Given the description of an element on the screen output the (x, y) to click on. 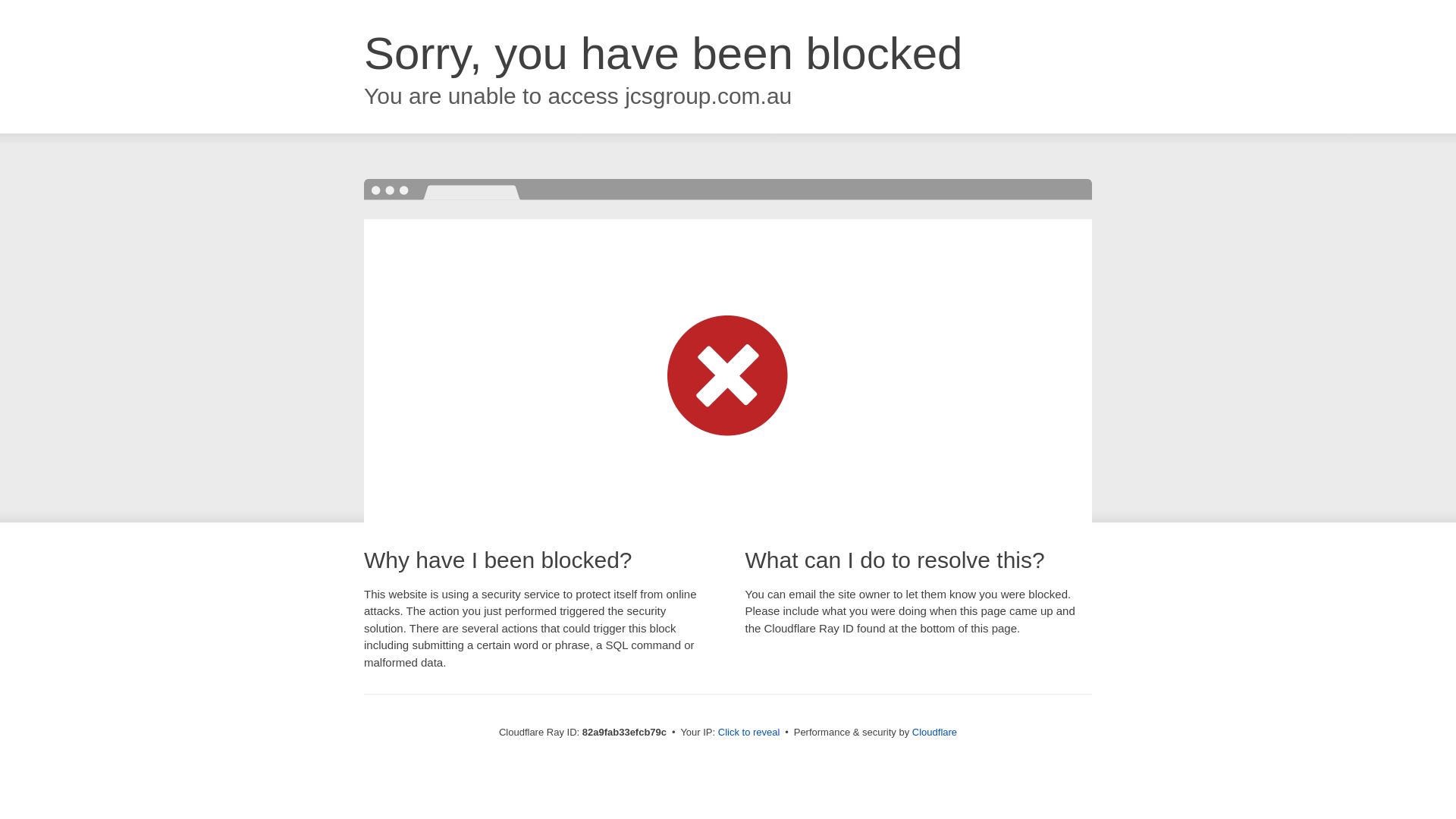
Click to reveal Element type: text (749, 732)
Cloudflare Element type: text (934, 731)
